Given the description of an element on the screen output the (x, y) to click on. 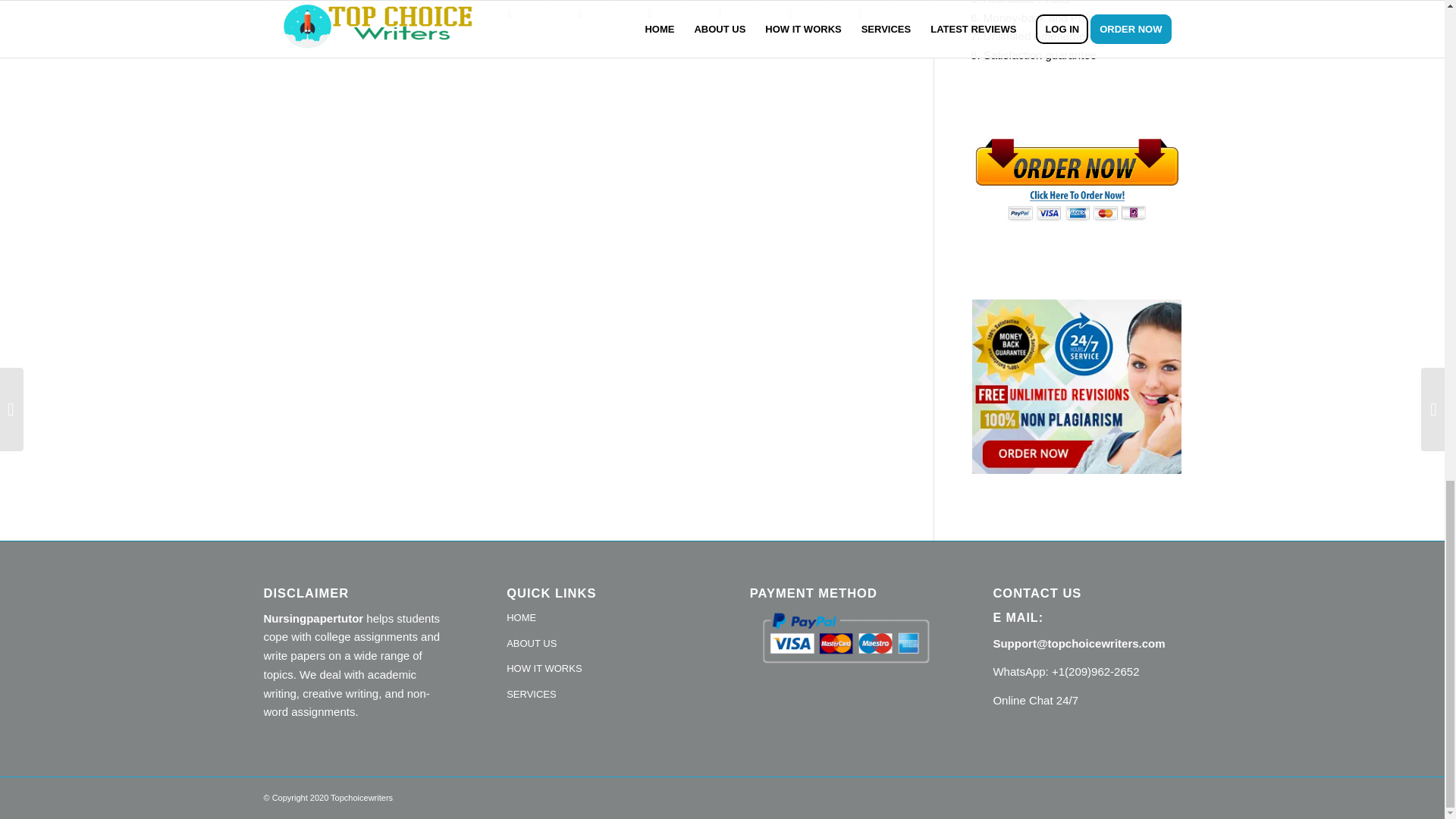
HOW IT WORKS (600, 669)
SERVICES (600, 695)
ABOUT US (600, 644)
HOME (600, 618)
